Given the description of an element on the screen output the (x, y) to click on. 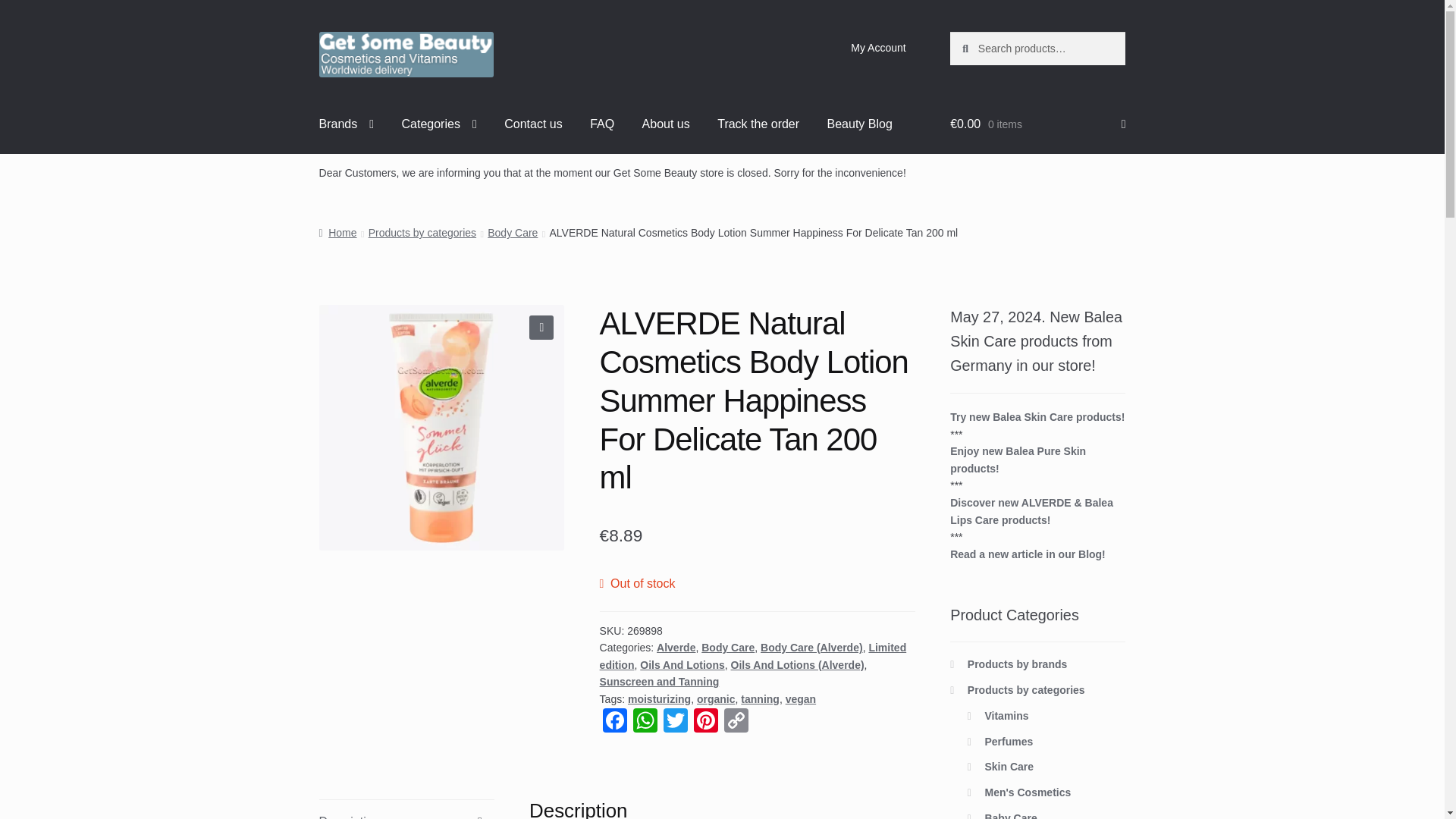
Copy Link (735, 722)
Twitter (675, 722)
View your shopping cart (1037, 124)
WhatsApp (645, 722)
Facebook (614, 722)
My Account (878, 47)
Brands (347, 124)
Pinterest (705, 722)
